Given the description of an element on the screen output the (x, y) to click on. 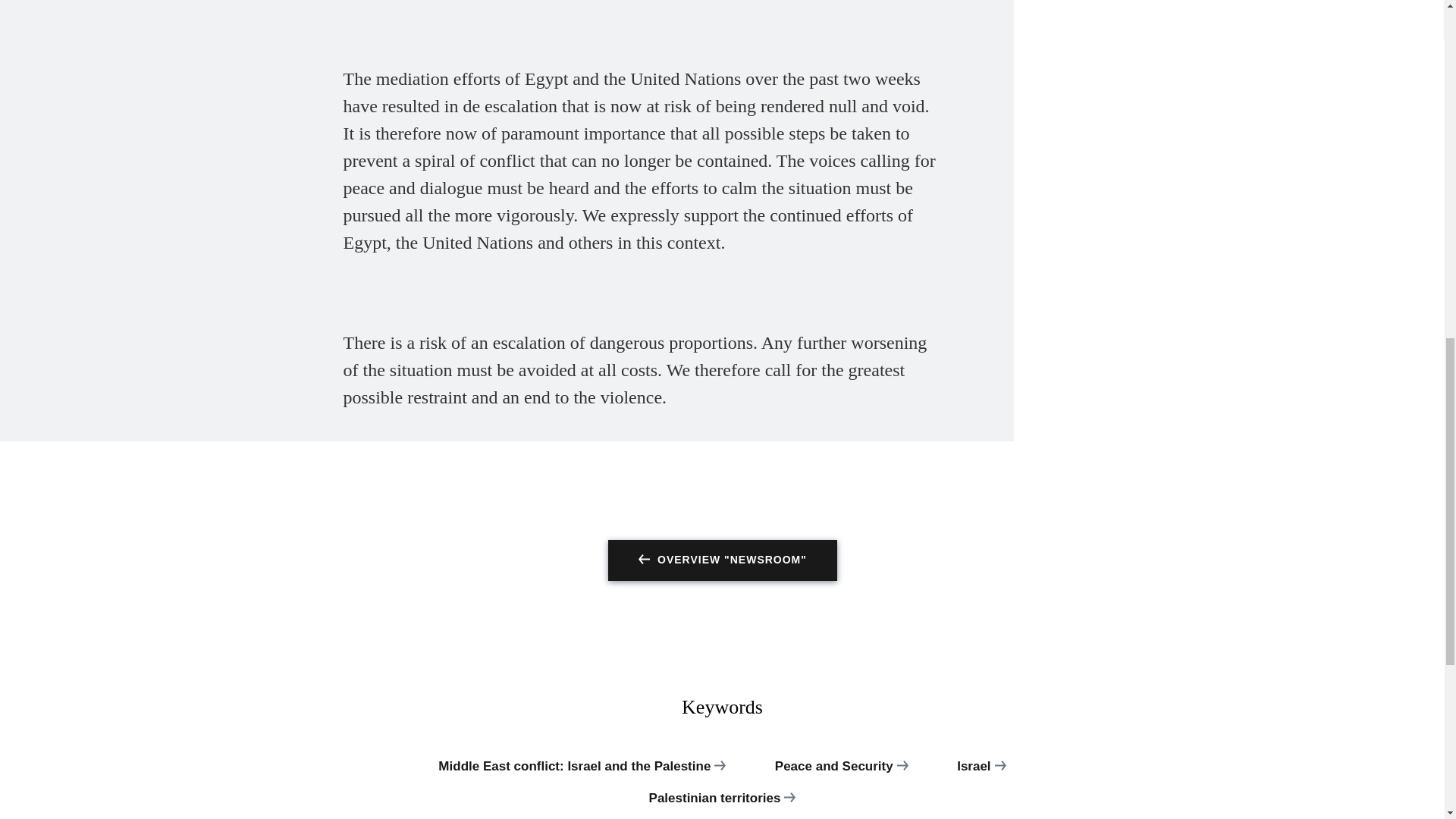
Overview Newsroom (722, 559)
Palestinian territories (722, 804)
Middle East conflict: Israel and the Palestine (581, 774)
Israel (980, 774)
Peace and Security (841, 774)
